Given the description of an element on the screen output the (x, y) to click on. 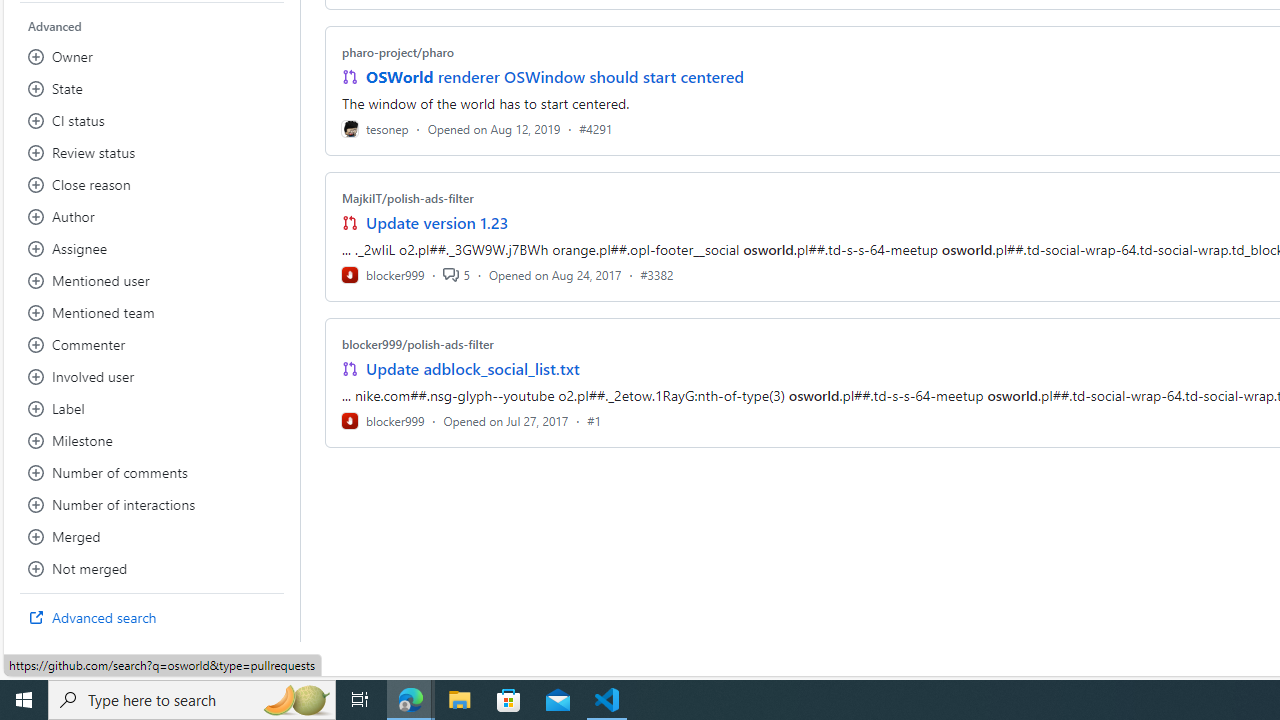
#1 (594, 420)
#4291 (595, 128)
Advanced search (152, 617)
#4291 (595, 128)
tesonep (375, 128)
